Given the description of an element on the screen output the (x, y) to click on. 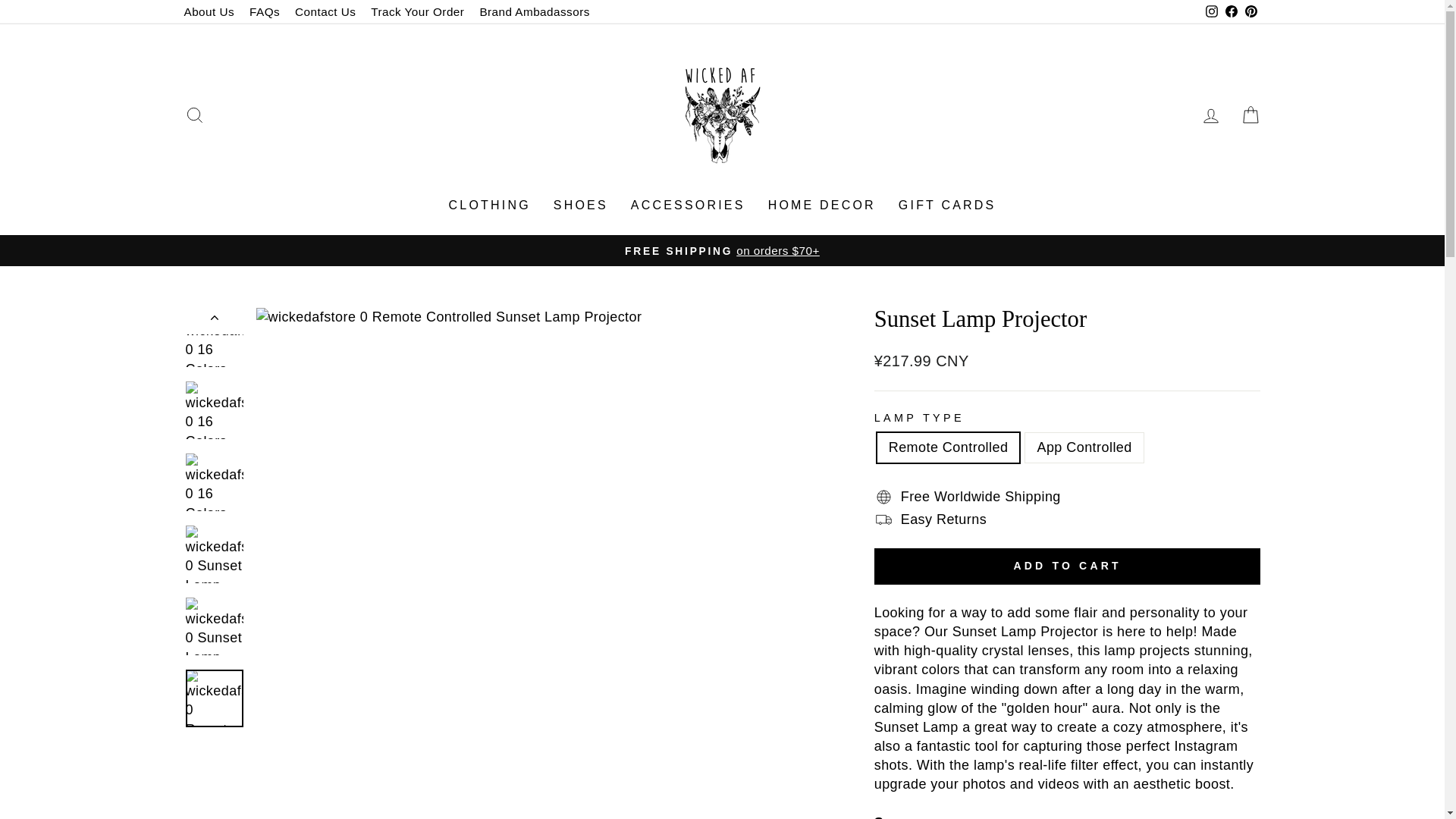
wickedafstore on Instagram (1211, 11)
wickedafstore on Facebook (1230, 11)
wickedafstore on Pinterest (1250, 11)
